Given the description of an element on the screen output the (x, y) to click on. 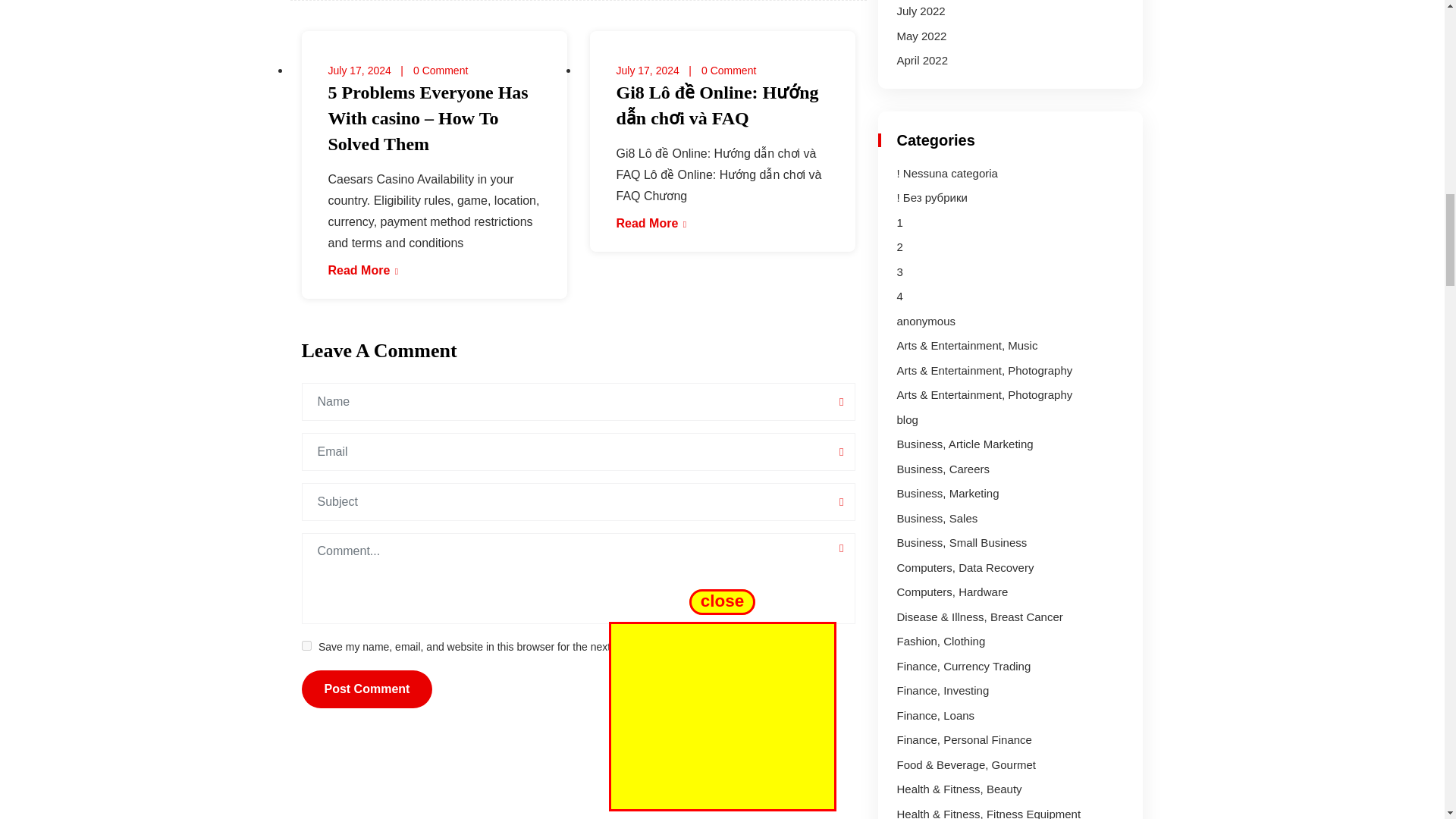
July 17, 2024 (358, 70)
Post Comment (366, 689)
Read More (362, 269)
Read More (651, 223)
July 17, 2024 (646, 70)
0 Comment (728, 70)
yes (306, 645)
0 Comment (440, 70)
Post Comment (366, 689)
